Given the description of an element on the screen output the (x, y) to click on. 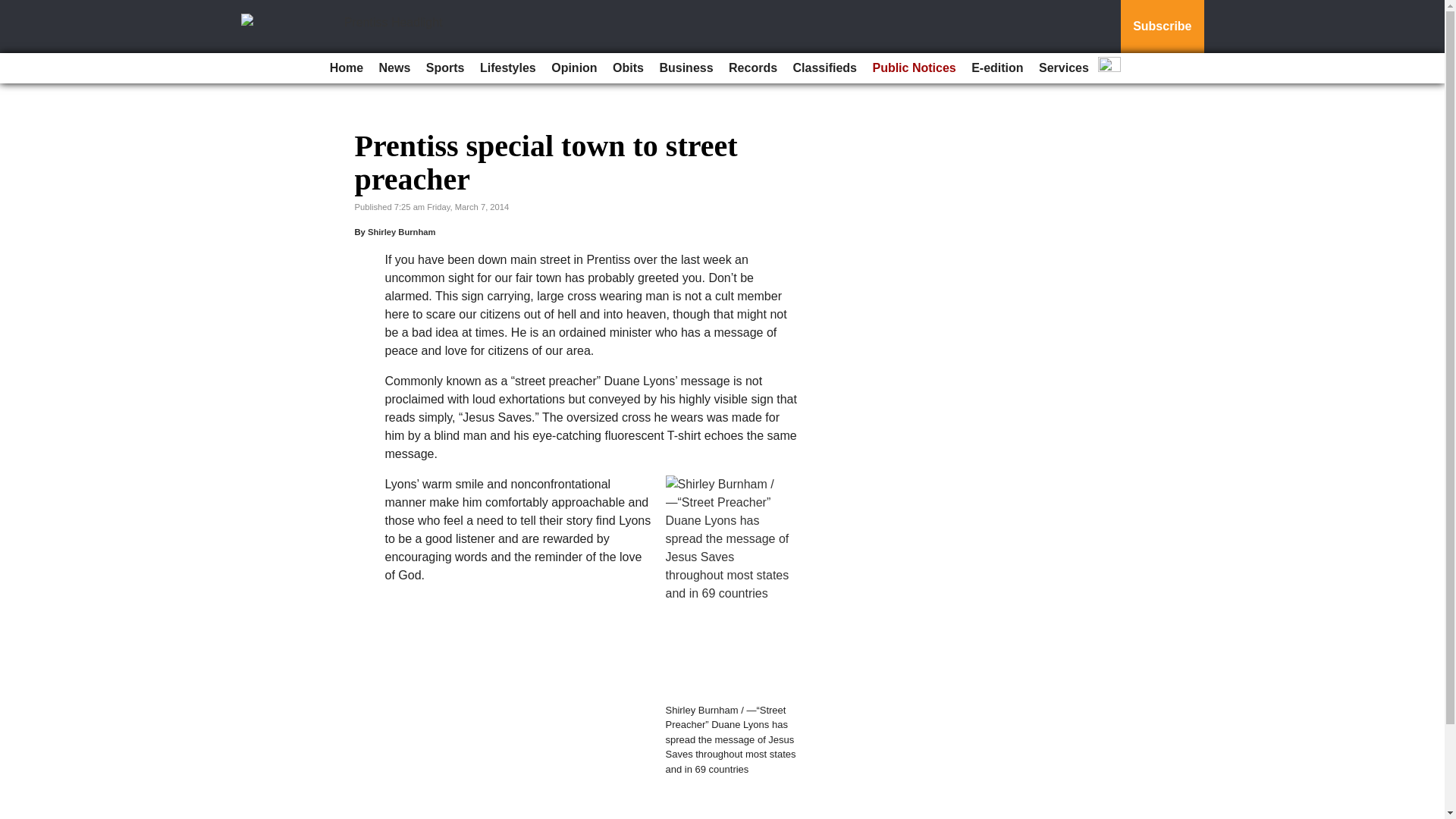
Obits (628, 68)
Classifieds (825, 68)
Sports (445, 68)
Subscribe (1162, 26)
Public Notices (913, 68)
Business (685, 68)
Services (1063, 68)
Shirley Burnham (401, 231)
Home (346, 68)
Opinion (573, 68)
